Given the description of an element on the screen output the (x, y) to click on. 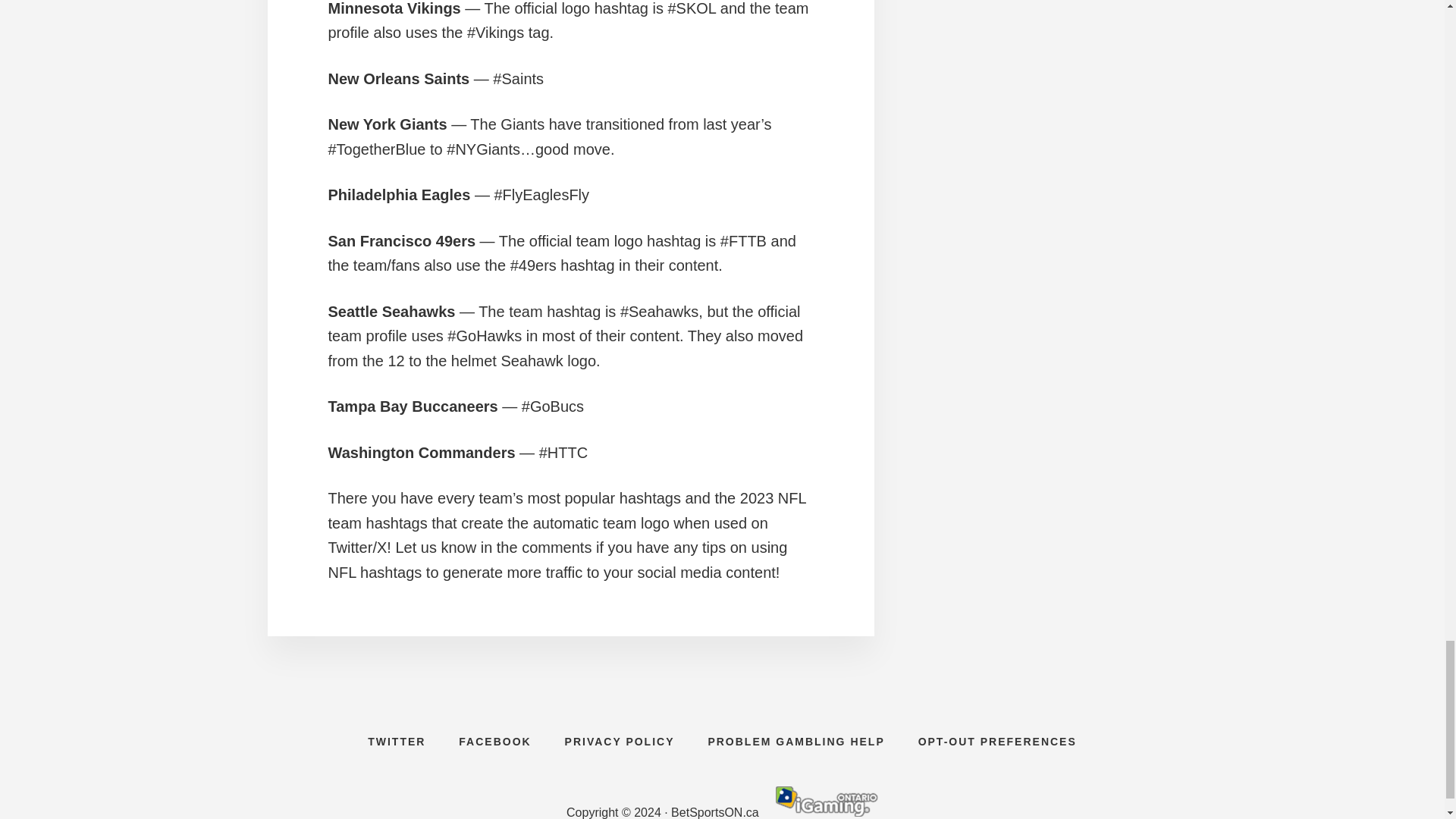
TWITTER (396, 741)
PRIVACY POLICY (620, 741)
PROBLEM GAMBLING HELP (796, 741)
OPT-OUT PREFERENCES (997, 741)
FACEBOOK (495, 741)
